Given the description of an element on the screen output the (x, y) to click on. 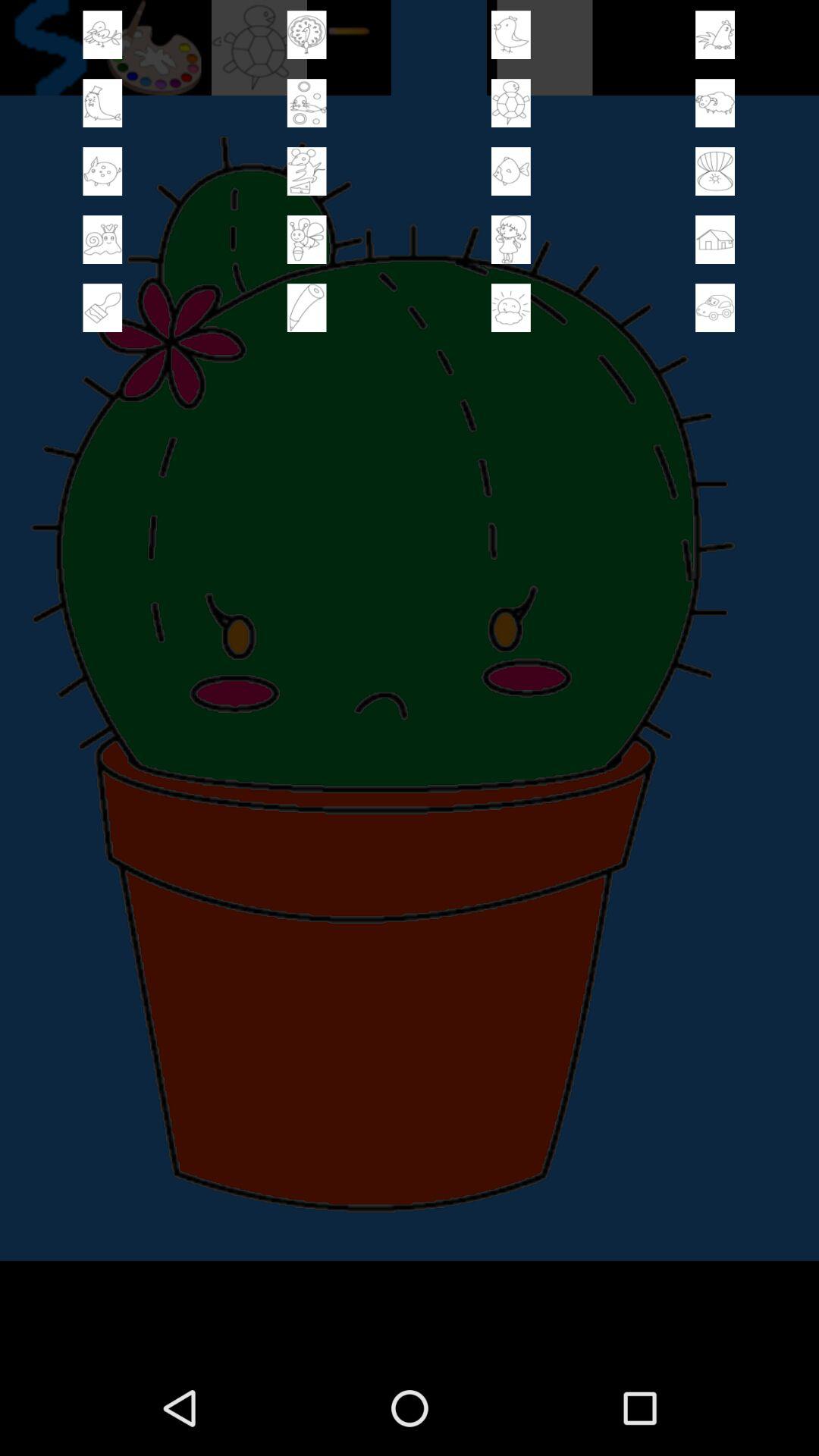
select this image (306, 307)
